Given the description of an element on the screen output the (x, y) to click on. 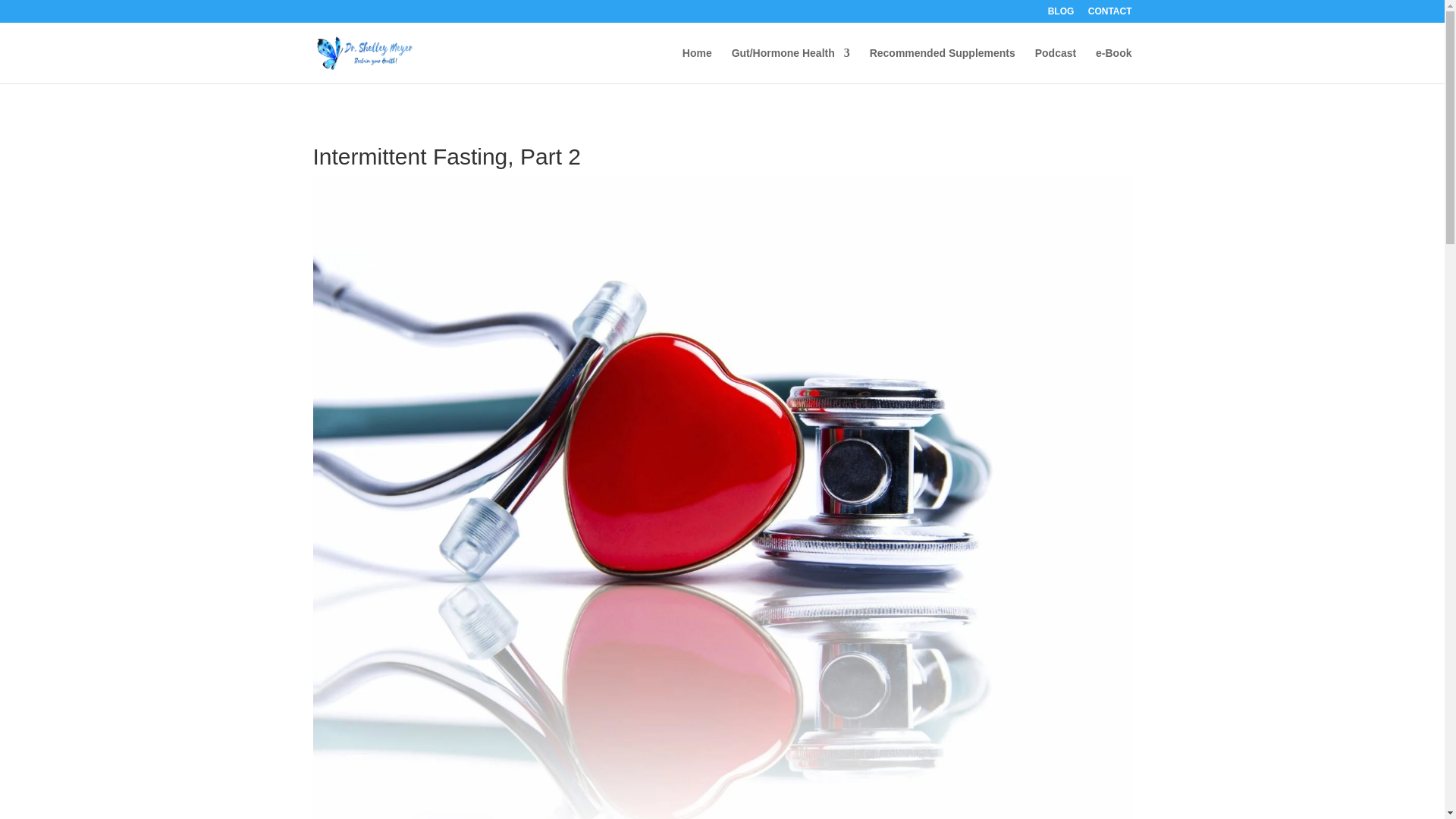
e-Book (1113, 65)
BLOG (1061, 14)
CONTACT (1109, 14)
Recommended Supplements (941, 65)
Podcast (1055, 65)
